Given the description of an element on the screen output the (x, y) to click on. 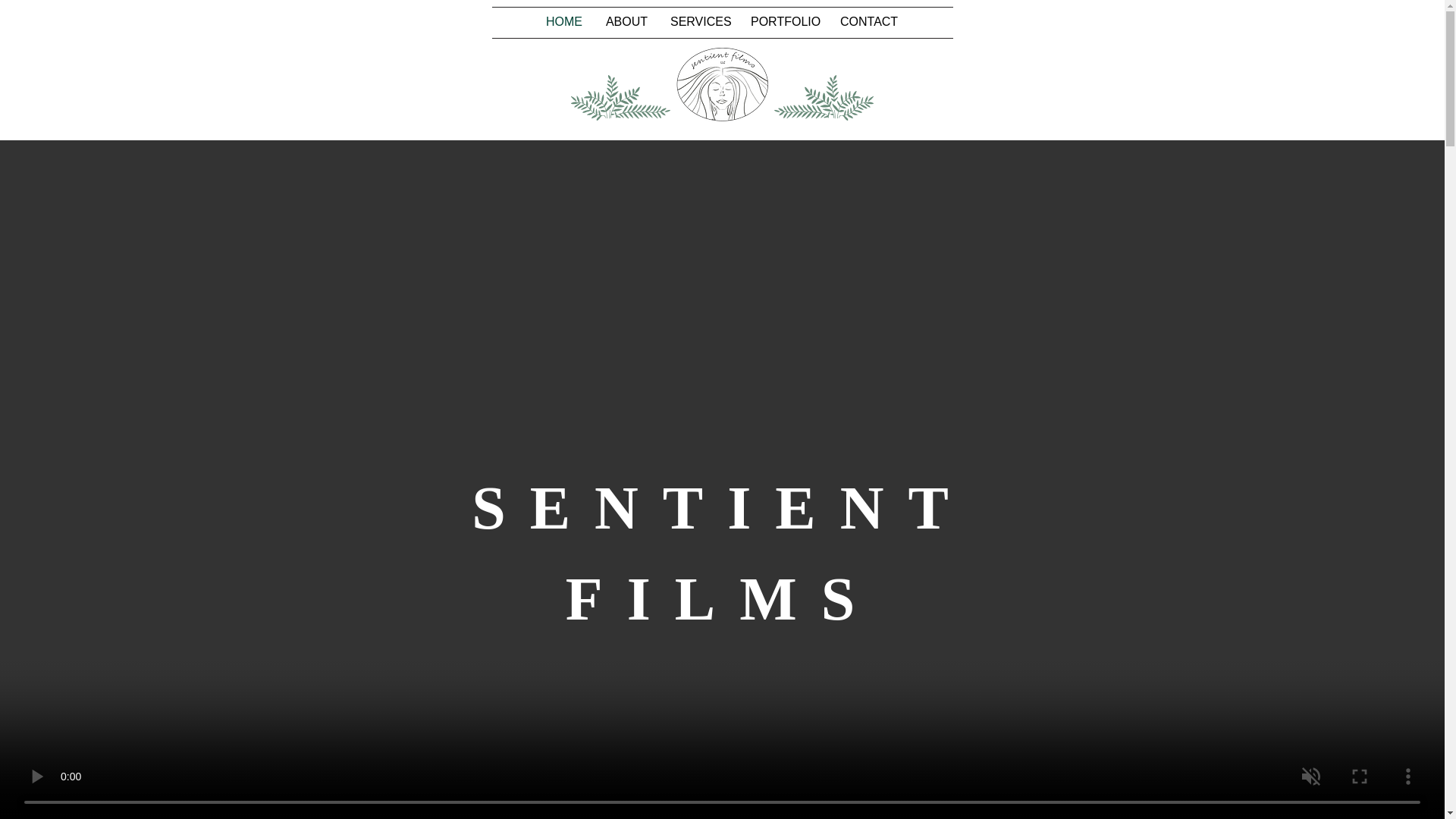
PORTFOLIO (783, 21)
CONTACT (868, 21)
SERVICES (699, 21)
ABOUT (626, 21)
HOME (564, 21)
